Given the description of an element on the screen output the (x, y) to click on. 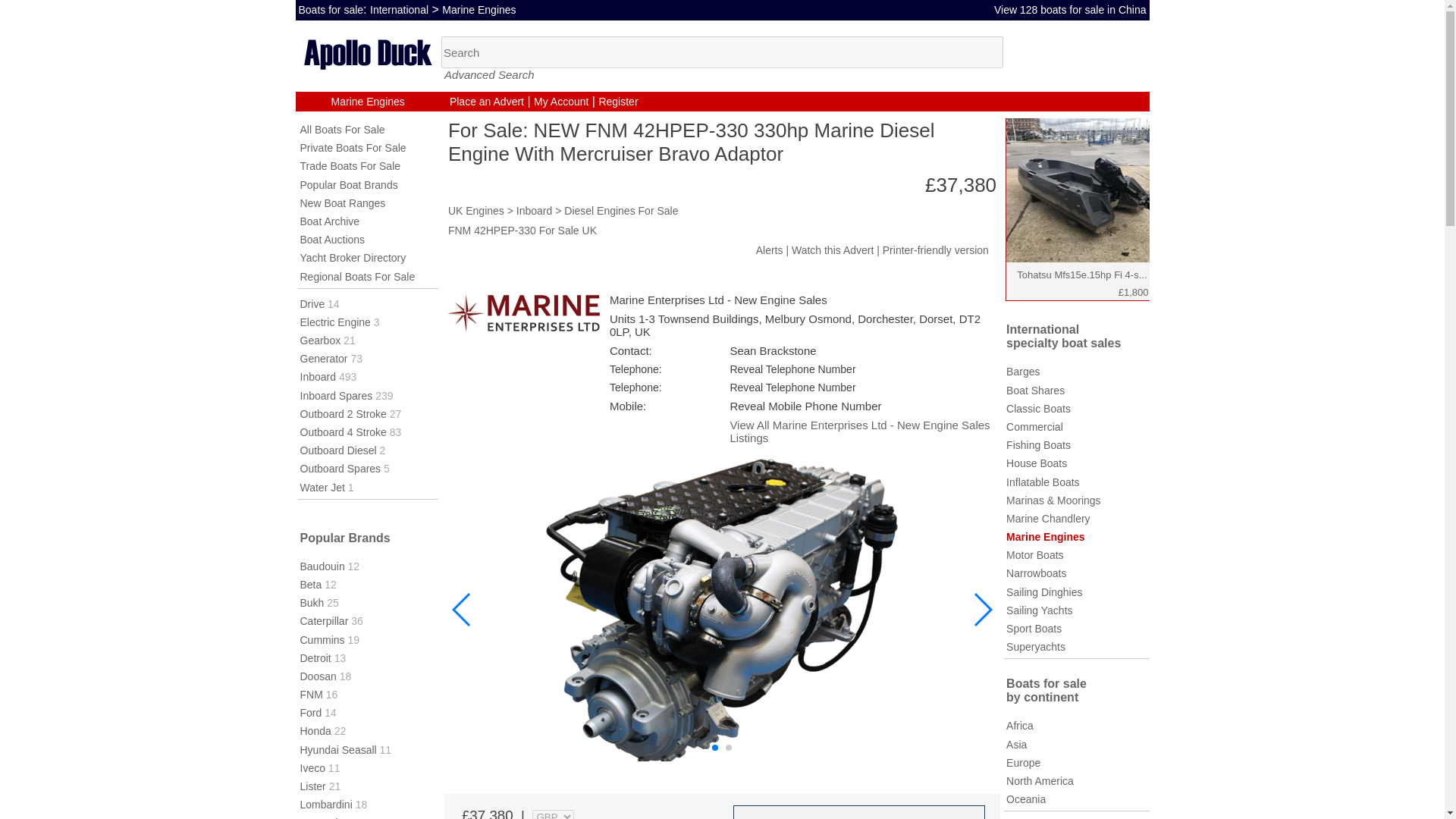
Detroit (315, 657)
Popular Boat Brands (348, 184)
Marine Engines (367, 101)
Electric Engine (335, 322)
Private Boats For Sale (352, 147)
Generator (323, 358)
Regional Boats For Sale (356, 275)
Boats for sale (331, 9)
Advanced Search (489, 74)
Gearbox (319, 340)
Outboard Diesel (338, 450)
Outboard 4 Stroke (343, 431)
Baudouin (322, 566)
Boat Search (722, 51)
Beta (310, 584)
